Given the description of an element on the screen output the (x, y) to click on. 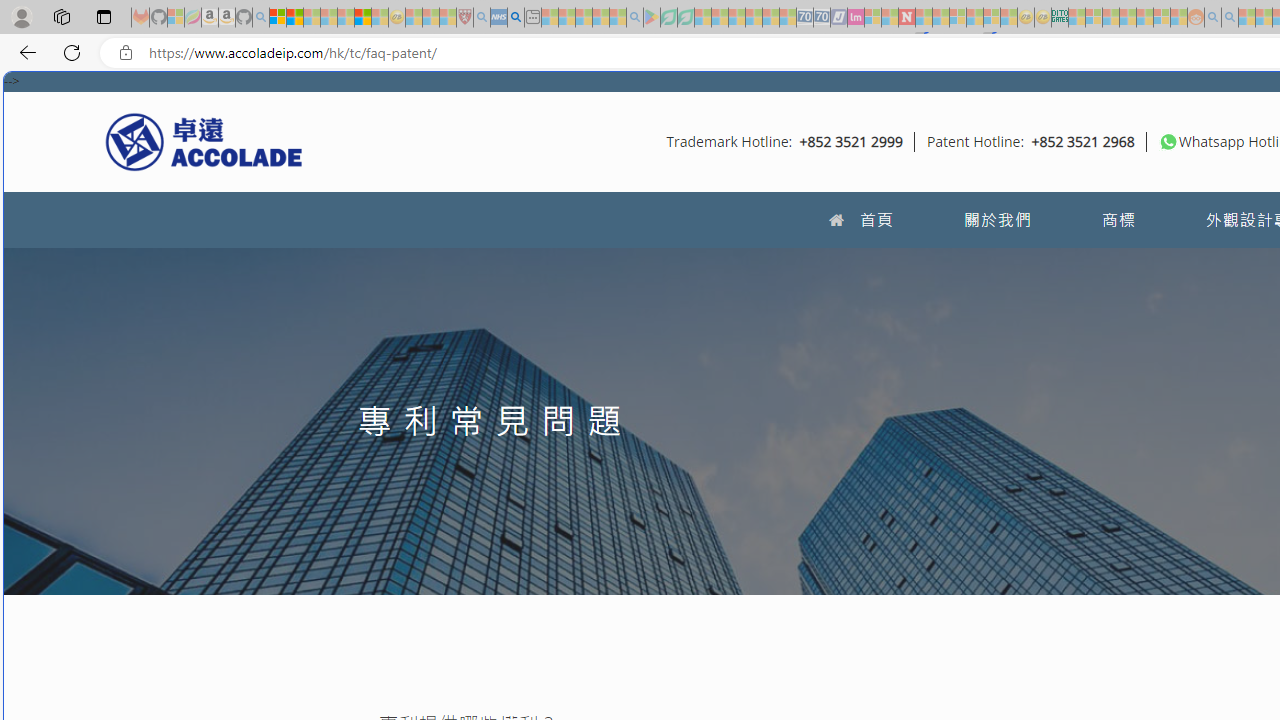
utah sues federal government - Search (515, 17)
